Given the description of an element on the screen output the (x, y) to click on. 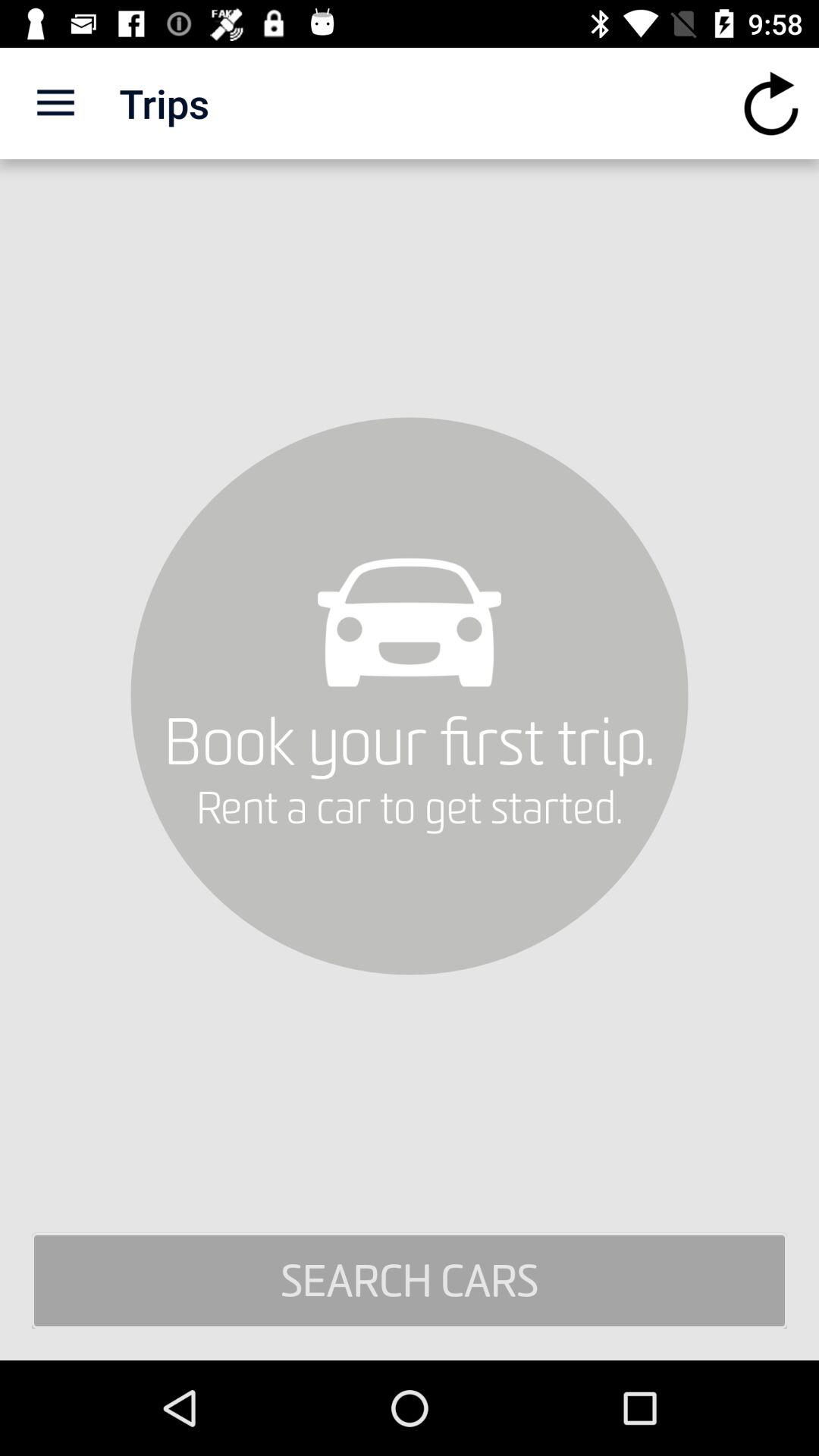
open app to the left of the trips (55, 103)
